Given the description of an element on the screen output the (x, y) to click on. 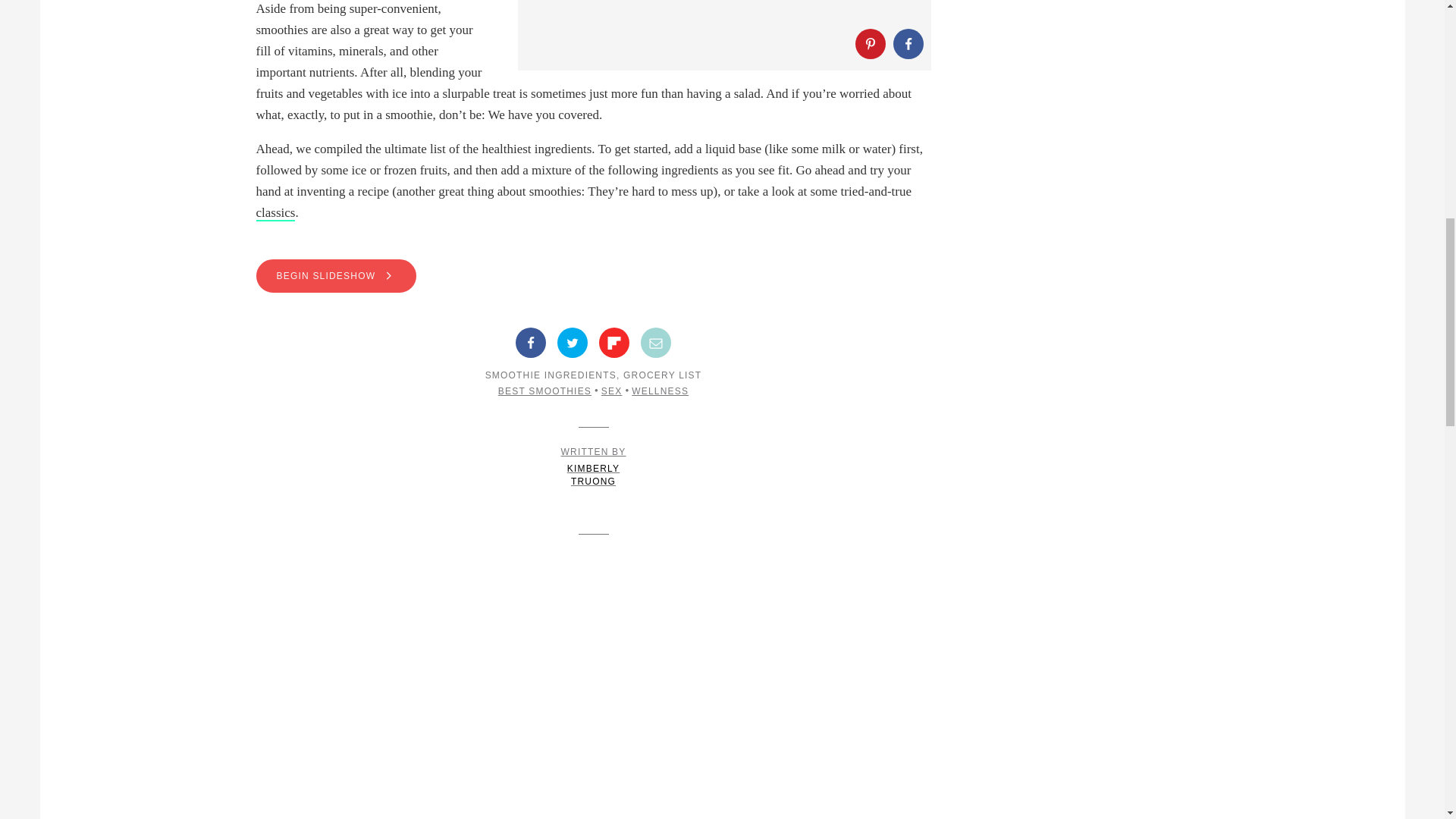
classics (275, 213)
BEGIN SLIDESHOW (336, 275)
BEST SMOOTHIES (544, 390)
Share by Email (594, 467)
Share on Flipboard (655, 342)
Share on Twitter (613, 342)
BEGIN SLIDESHOW (572, 342)
SEX (593, 275)
WELLNESS (612, 390)
